Given the description of an element on the screen output the (x, y) to click on. 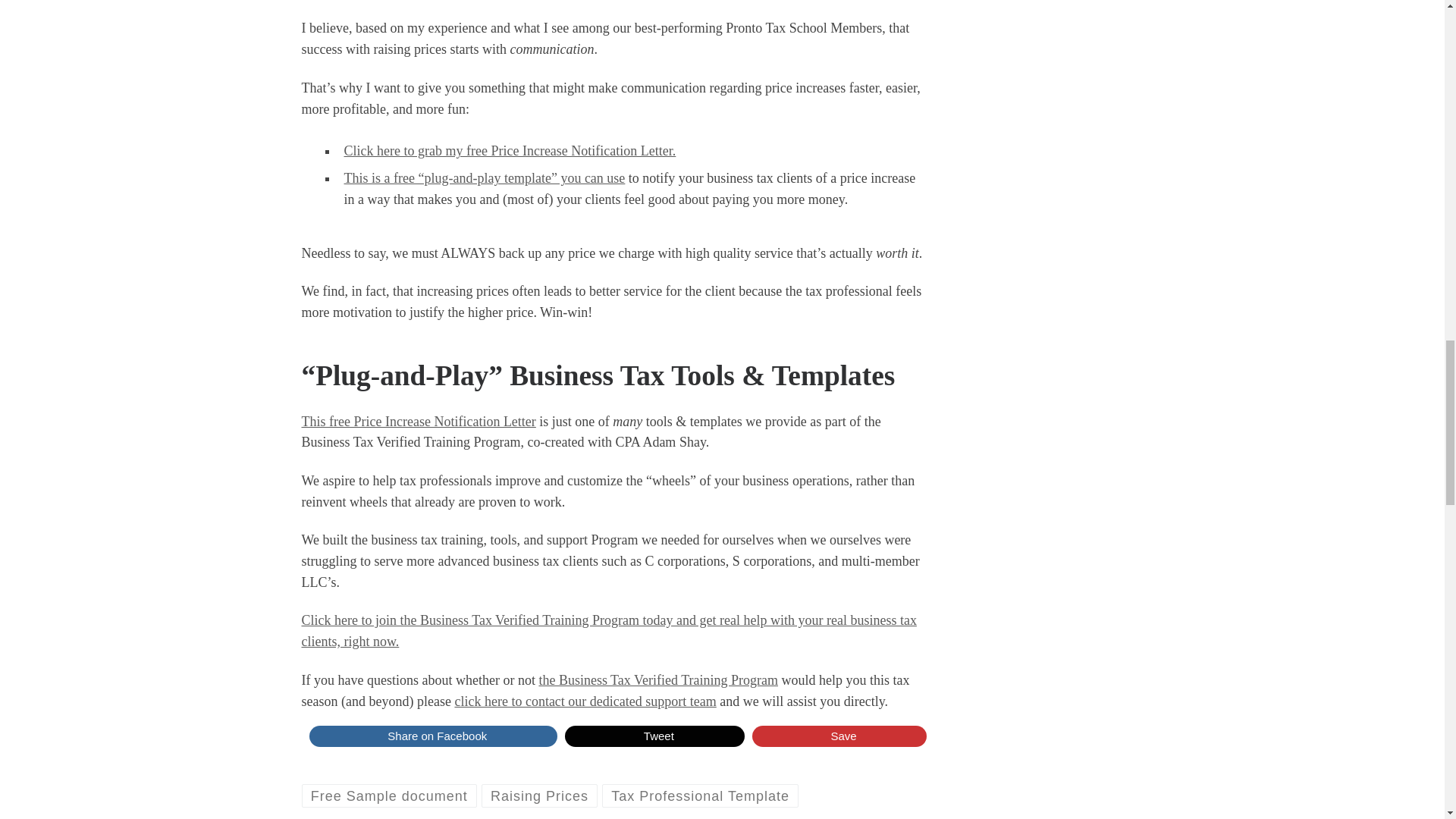
View all posts in Raising Prices (539, 795)
View all posts in Free Sample document (389, 795)
View all posts in Tax Professional Template (699, 795)
